Given the description of an element on the screen output the (x, y) to click on. 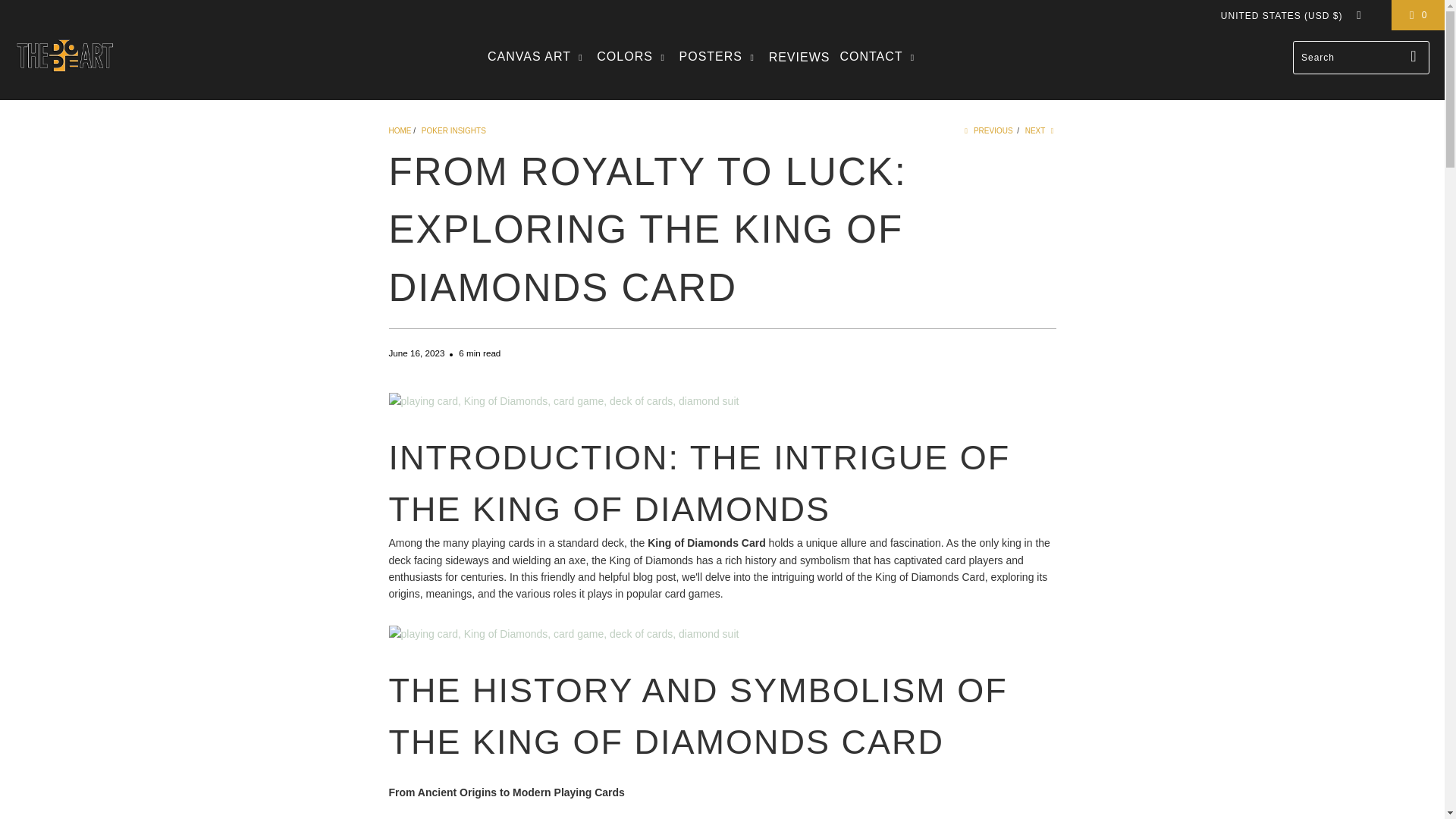
Thedopeart (63, 56)
Poker Insights (454, 130)
Thedopeart (399, 130)
